Given the description of an element on the screen output the (x, y) to click on. 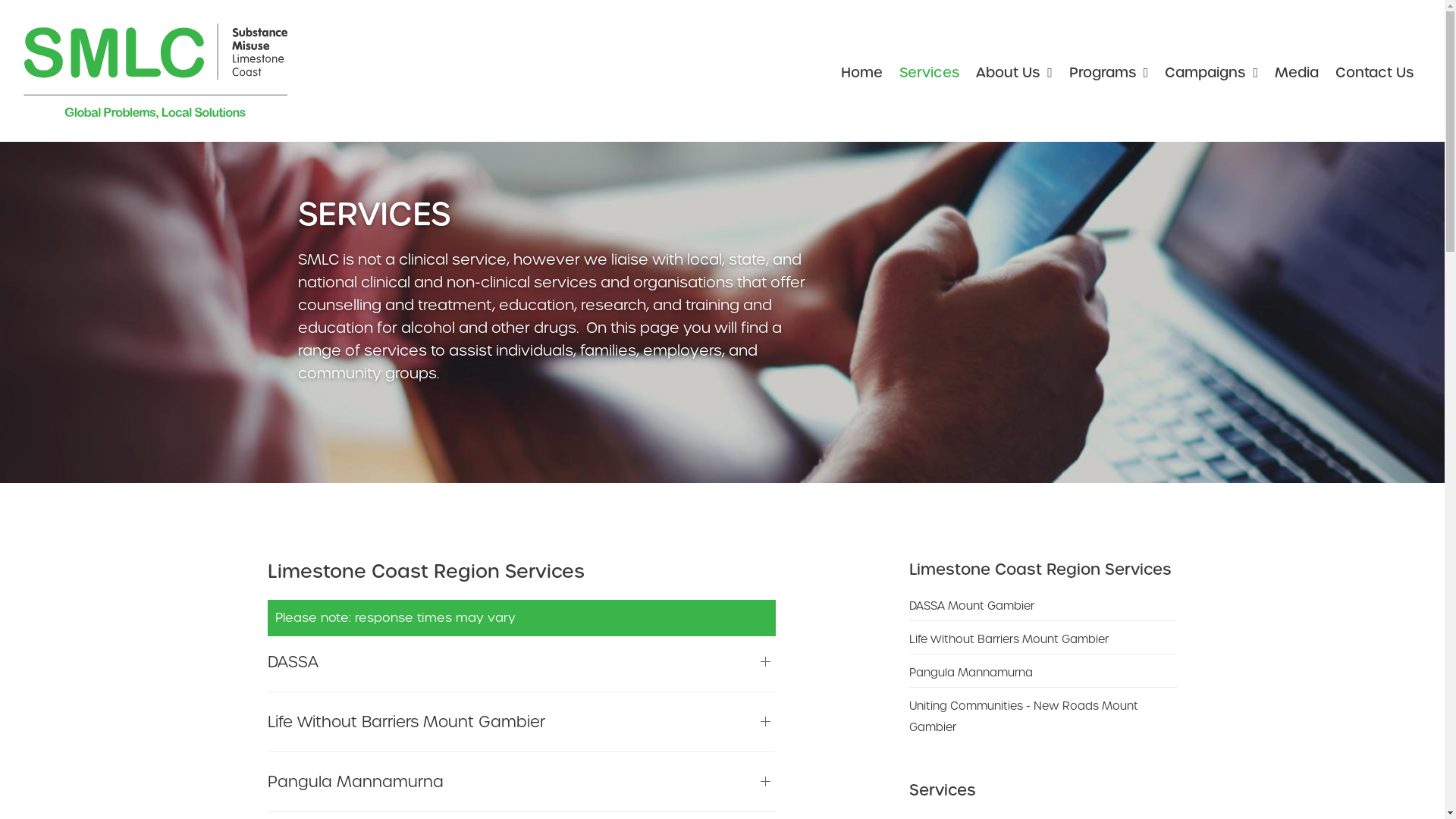
Life Without Barriers Mount Gambier Element type: text (520, 721)
Campaigns Element type: text (1211, 72)
Programs Element type: text (1108, 72)
Media Element type: text (1296, 72)
Contact Us Element type: text (1374, 72)
About Us Element type: text (1013, 72)
Pangula Mannamurna Element type: text (1042, 674)
Home Element type: text (861, 72)
Substance Misuse Limestone Coast Element type: hover (155, 70)
Pangula Mannamurna Element type: text (520, 781)
Uniting Communities - New Roads Mount Gambier Element type: text (1042, 718)
DASSA Element type: text (520, 661)
Life Without Barriers Mount Gambier Element type: text (1042, 640)
Services Element type: text (929, 72)
DASSA Mount Gambier Element type: text (1042, 607)
